Given the description of an element on the screen output the (x, y) to click on. 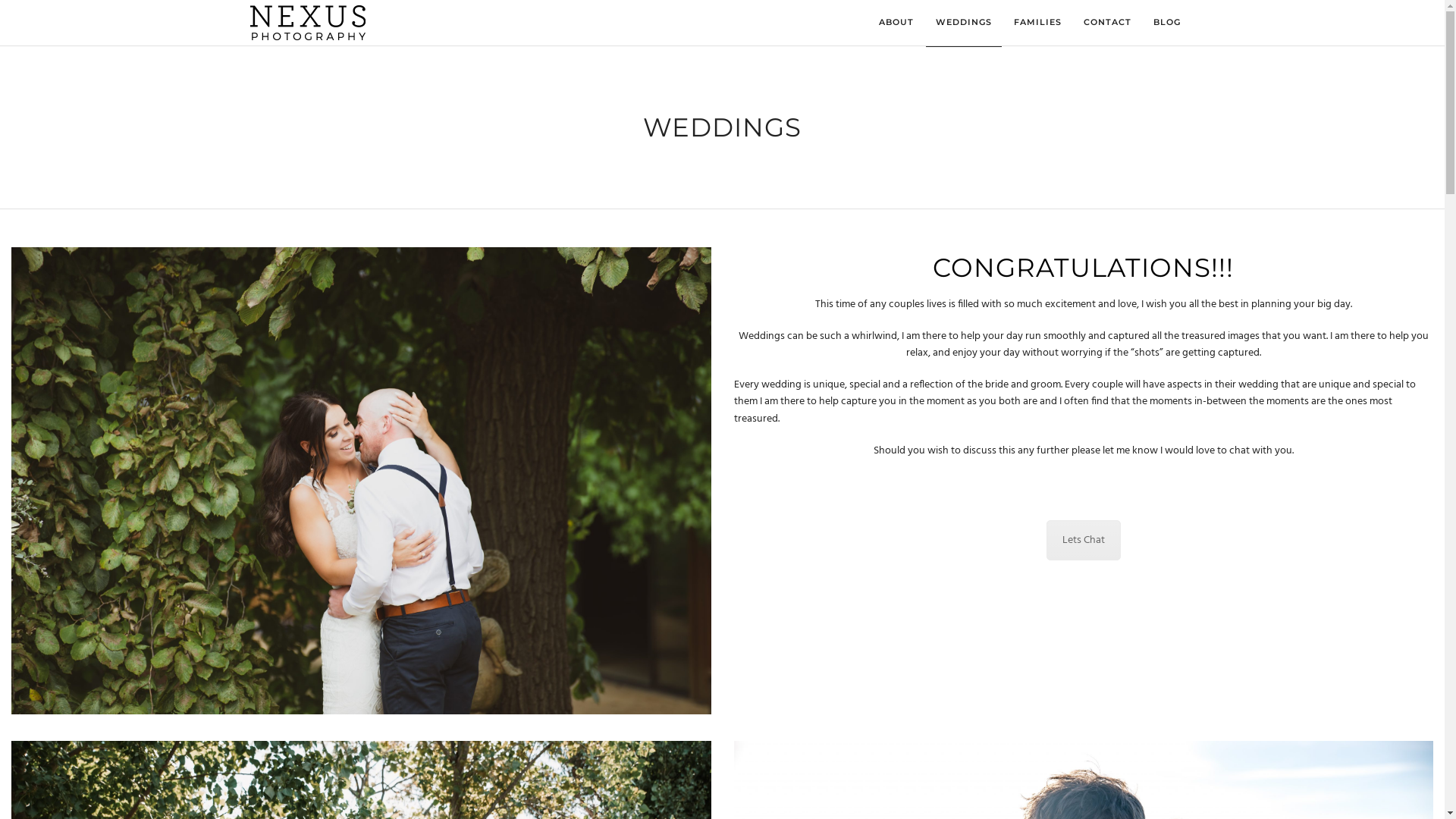
Lets Chat Element type: text (1083, 540)
